Given the description of an element on the screen output the (x, y) to click on. 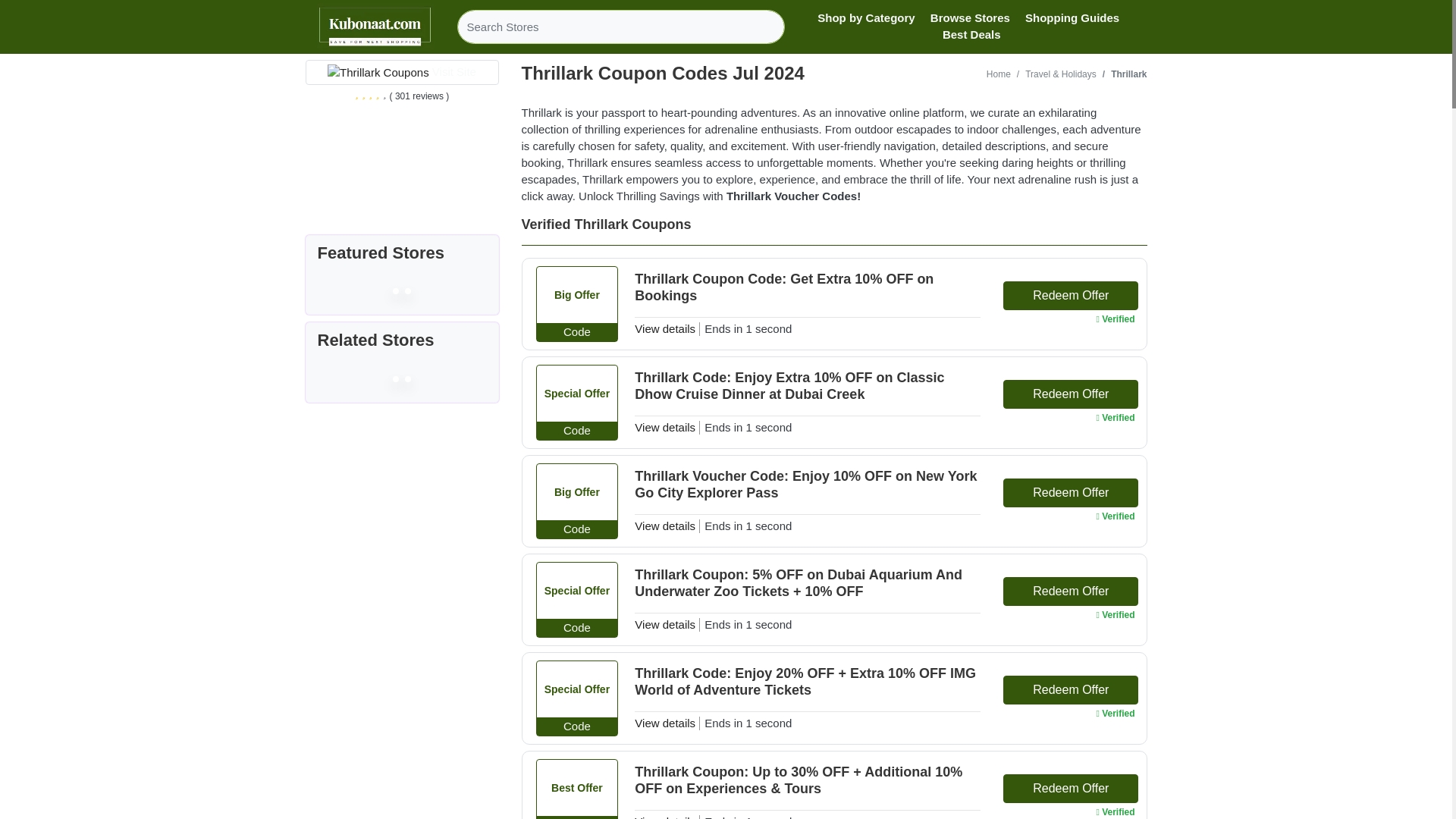
Shopping Guides (1072, 17)
Visit Site (454, 71)
Home (998, 73)
Home (998, 73)
Shop by Category (865, 17)
View details (664, 427)
Redeem Offer (1070, 788)
Thrillark Coupons (378, 72)
Kubonaat.com Oman (375, 26)
Redeem Offer (1070, 394)
Redeem Offer (1070, 591)
Best Deals (971, 34)
Redeem Offer (1070, 295)
View details (664, 722)
Redeem Offer (1070, 492)
